Given the description of an element on the screen output the (x, y) to click on. 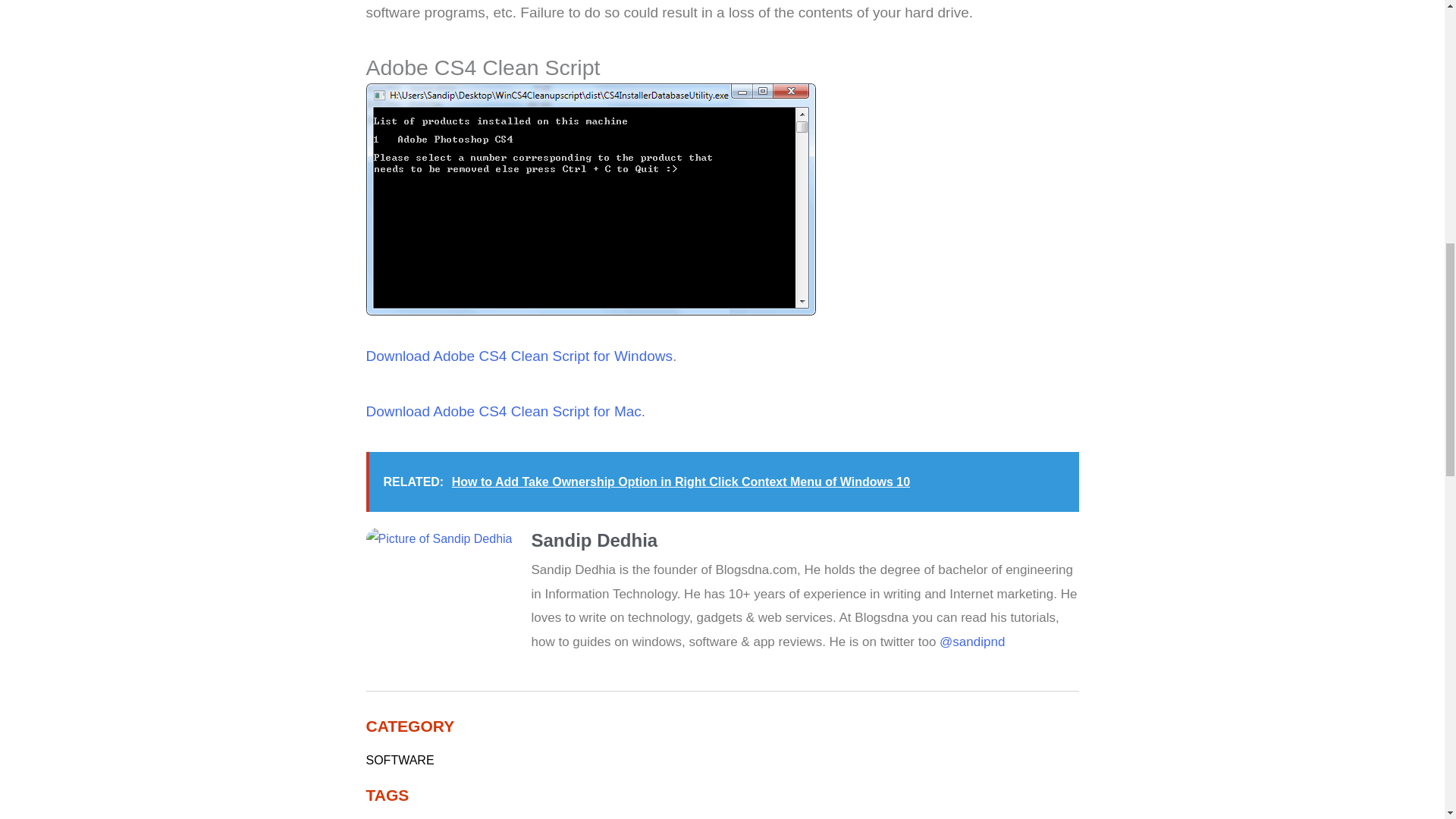
Download Adobe CS4 Cleanup Script fro Windows (518, 355)
Download Adobe CS4 Clean Script for Mac (502, 411)
SOFTWARE (399, 759)
Adobe CS4 Cleanup Utility (590, 199)
Download Adobe CS4 Clean Script for Windows (518, 355)
Sandip Dedhia (804, 540)
Download Adobe CS4 Cleanup Script fro Mac (502, 411)
